Given the description of an element on the screen output the (x, y) to click on. 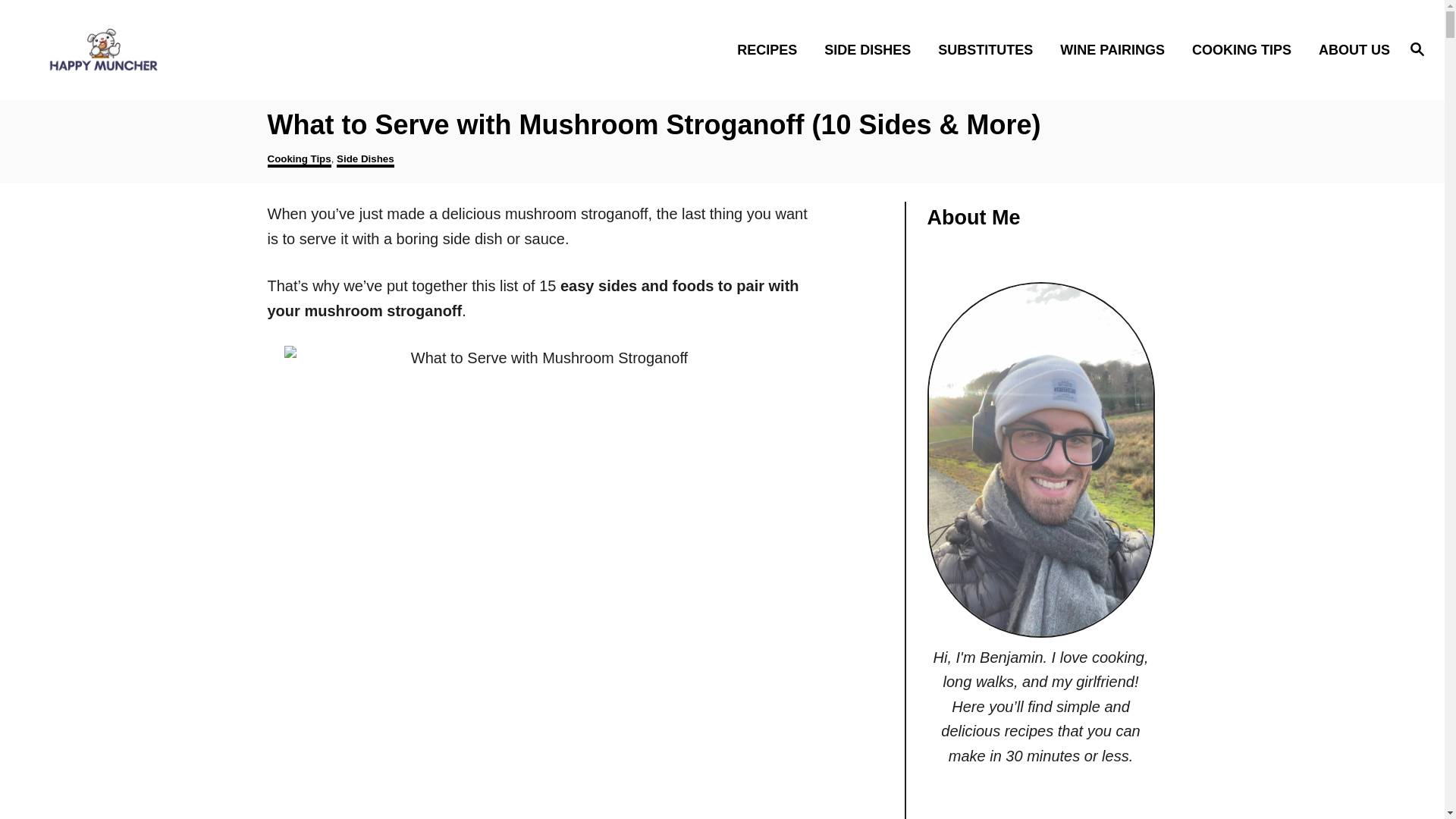
WINE PAIRINGS (1116, 49)
Side Dishes (365, 160)
Cooking Tips (298, 160)
ABOUT US (1349, 49)
SUBSTITUTES (989, 49)
Magnifying Glass (1416, 48)
Happy Muncher (187, 49)
COOKING TIPS (1245, 49)
SIDE DISHES (871, 49)
RECIPES (771, 49)
